Given the description of an element on the screen output the (x, y) to click on. 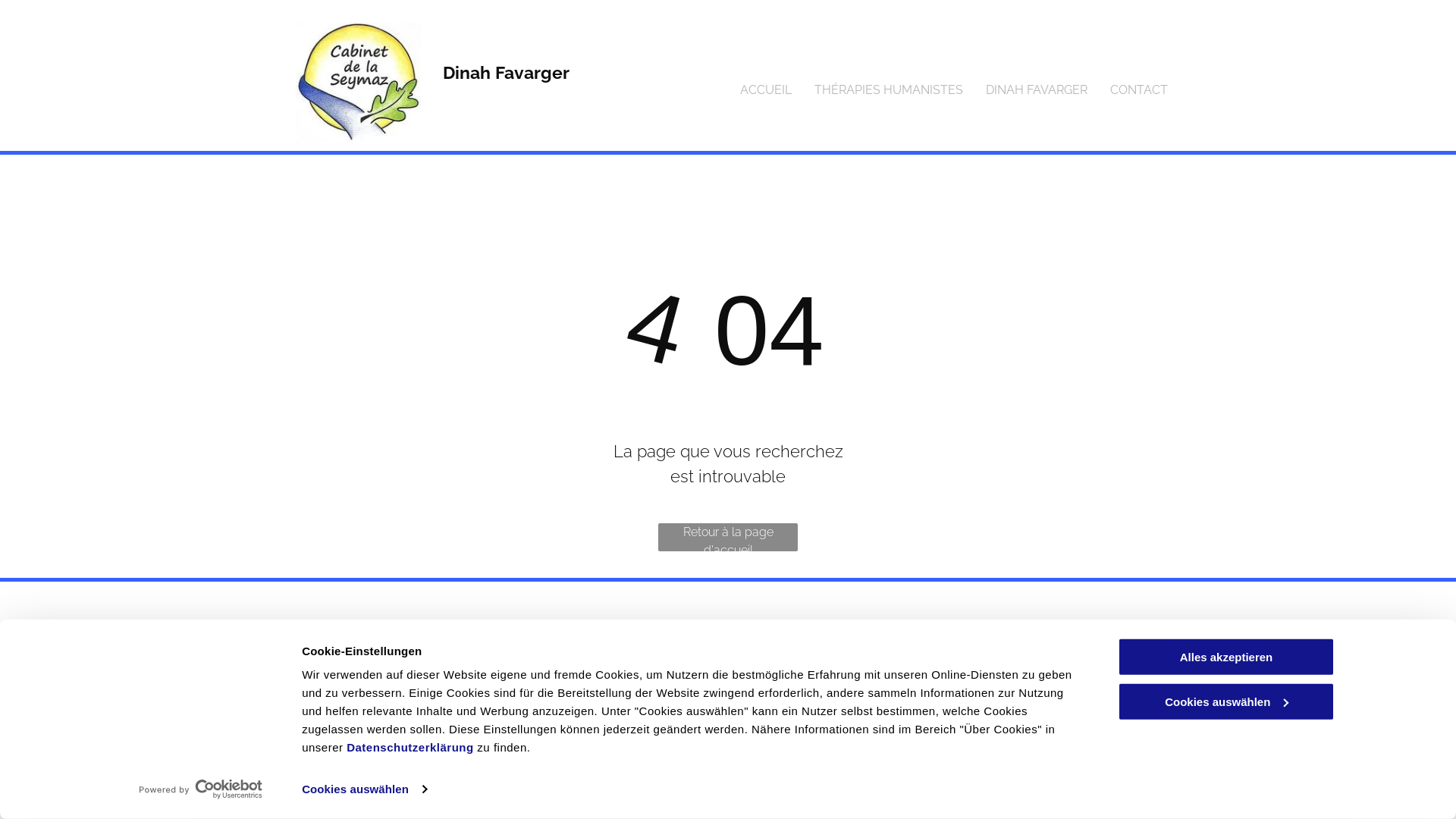
Alles akzeptieren Element type: text (1225, 656)
dfavarger@bluewin.ch Element type: text (648, 699)
077 465 95 67 Element type: text (627, 660)
ACCUEIL Element type: text (765, 91)
CONTACT Element type: text (1138, 91)
DINAH FAVARGER Element type: text (1036, 91)
